Given the description of an element on the screen output the (x, y) to click on. 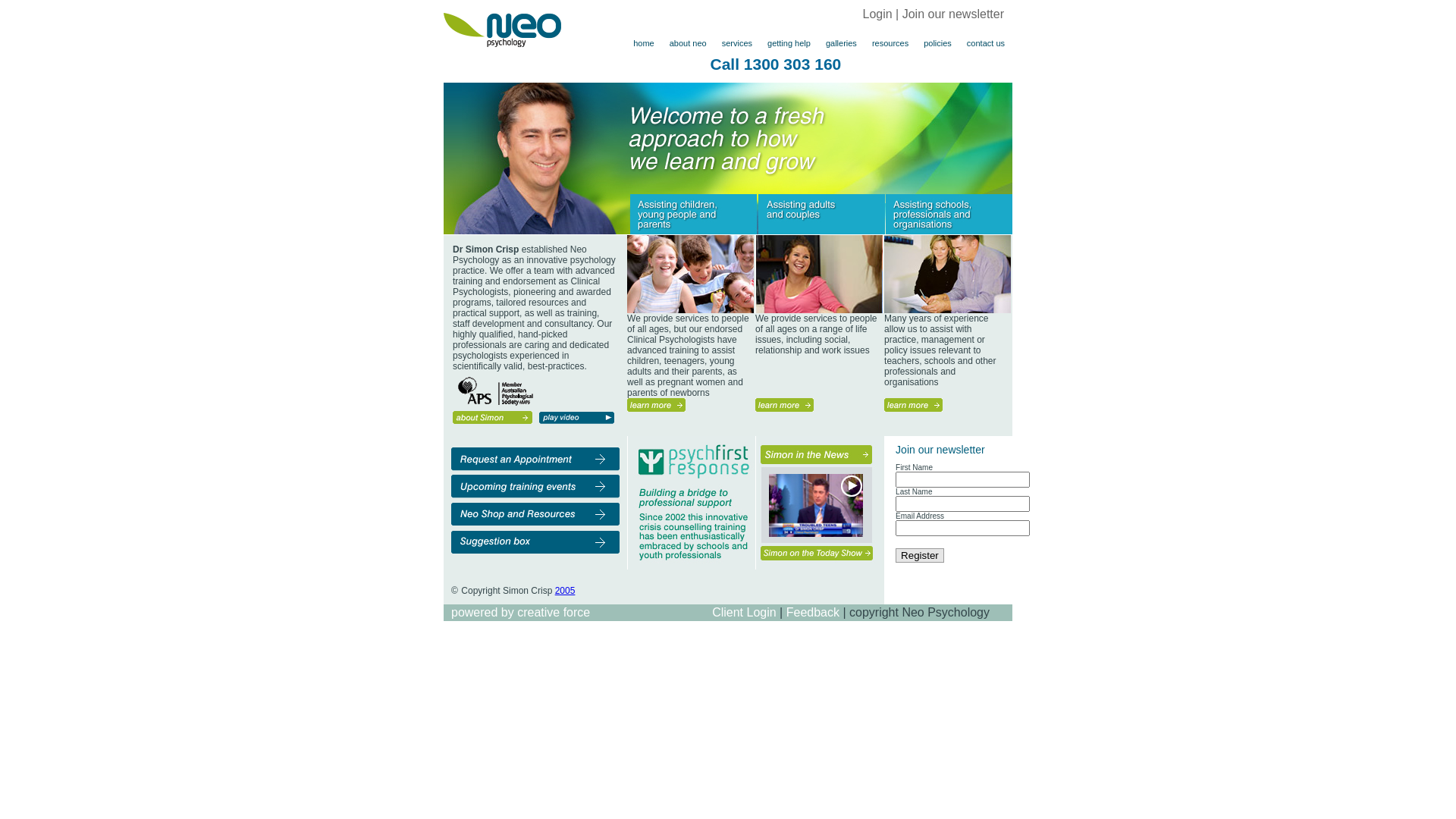
Client Login Element type: text (744, 611)
contact us Element type: text (985, 43)
galleries Element type: text (841, 43)
Login Element type: text (877, 13)
Feedback Element type: text (812, 611)
powered by creative force Element type: text (520, 611)
about neo Element type: text (688, 43)
services Element type: text (736, 43)
home Element type: text (643, 43)
Join our newsletter Element type: text (953, 13)
Register Element type: text (919, 555)
resources Element type: text (890, 43)
policies Element type: text (937, 43)
getting help Element type: text (788, 43)
2005 Element type: text (565, 590)
